Given the description of an element on the screen output the (x, y) to click on. 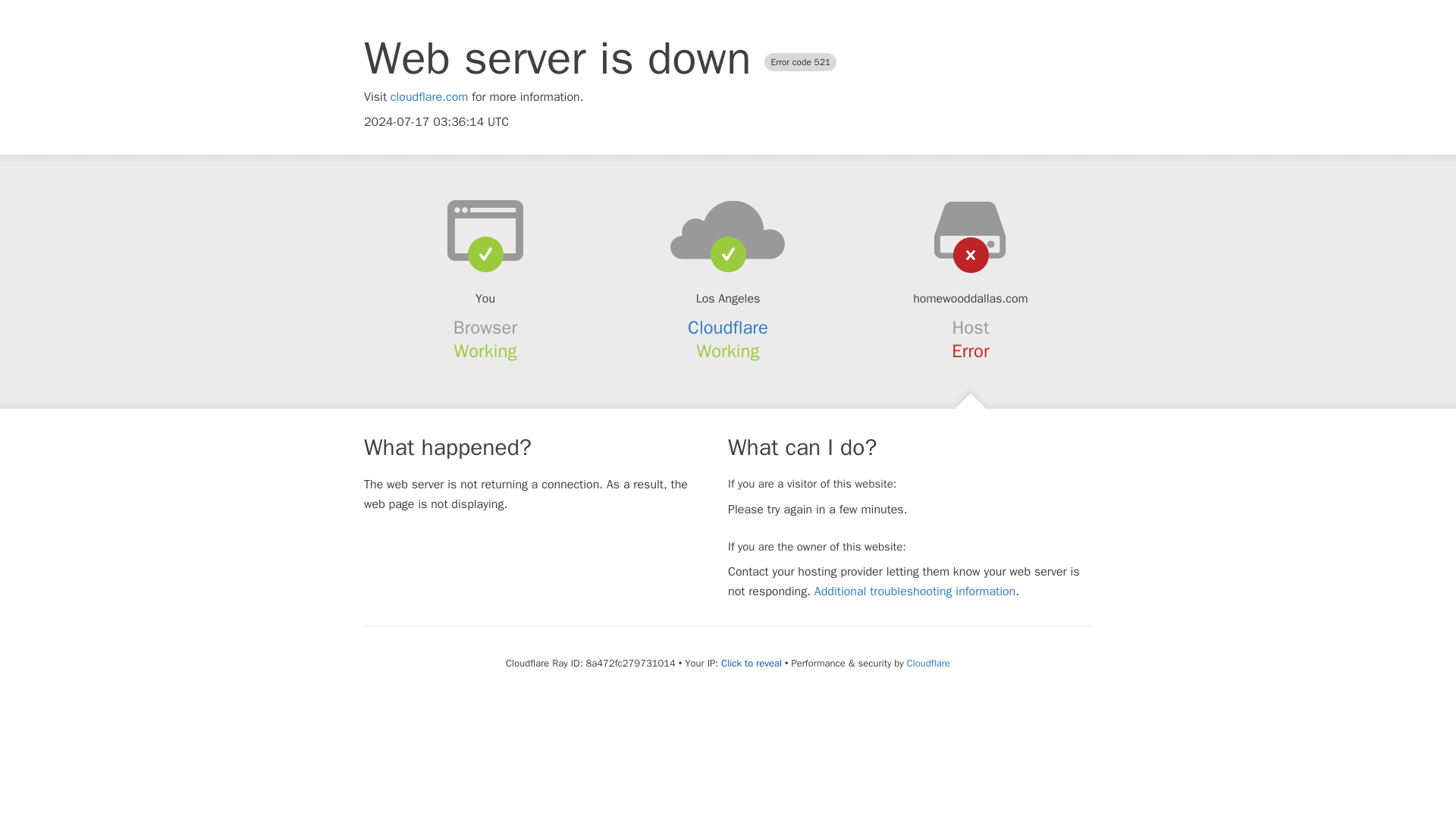
Cloudflare (928, 662)
Additional troubleshooting information (913, 590)
cloudflare.com (429, 96)
Click to reveal (750, 663)
Cloudflare (727, 327)
